Given the description of an element on the screen output the (x, y) to click on. 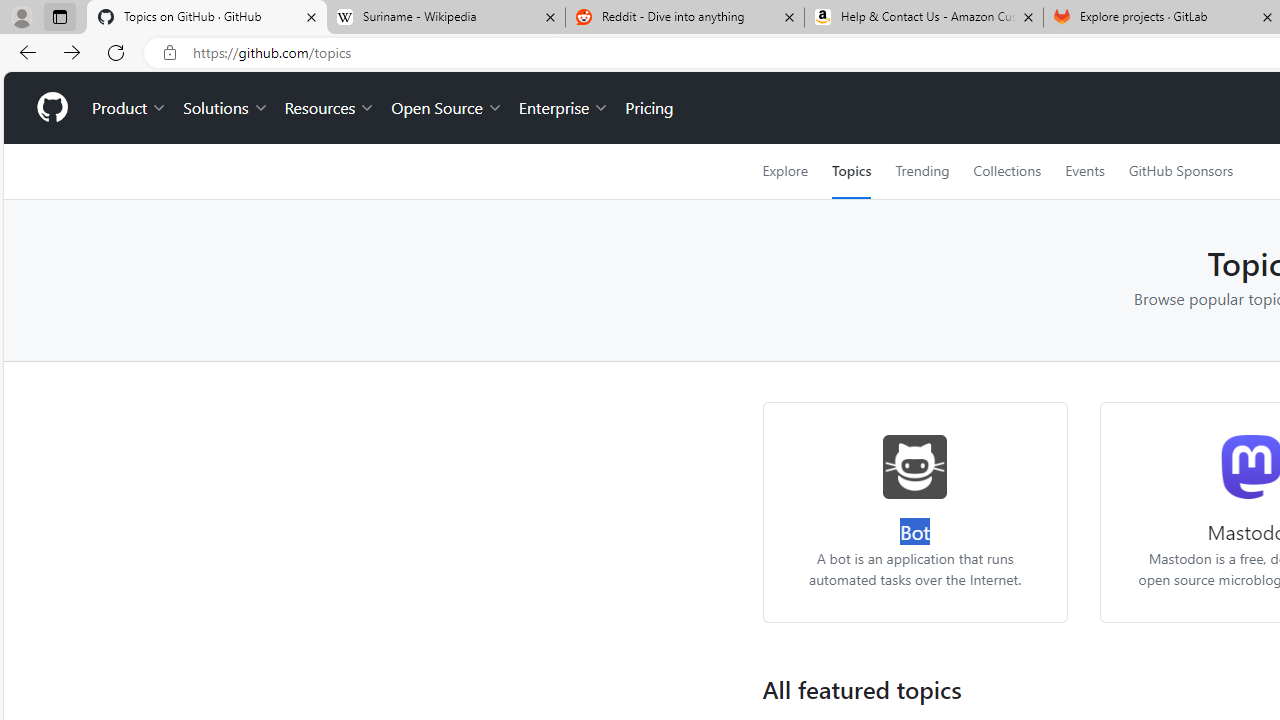
Pricing (649, 107)
Solutions (225, 107)
Pricing (649, 107)
Explore (784, 171)
Product (130, 107)
Trending (921, 171)
Solutions (225, 107)
Forward (72, 52)
bot (915, 466)
